Given the description of an element on the screen output the (x, y) to click on. 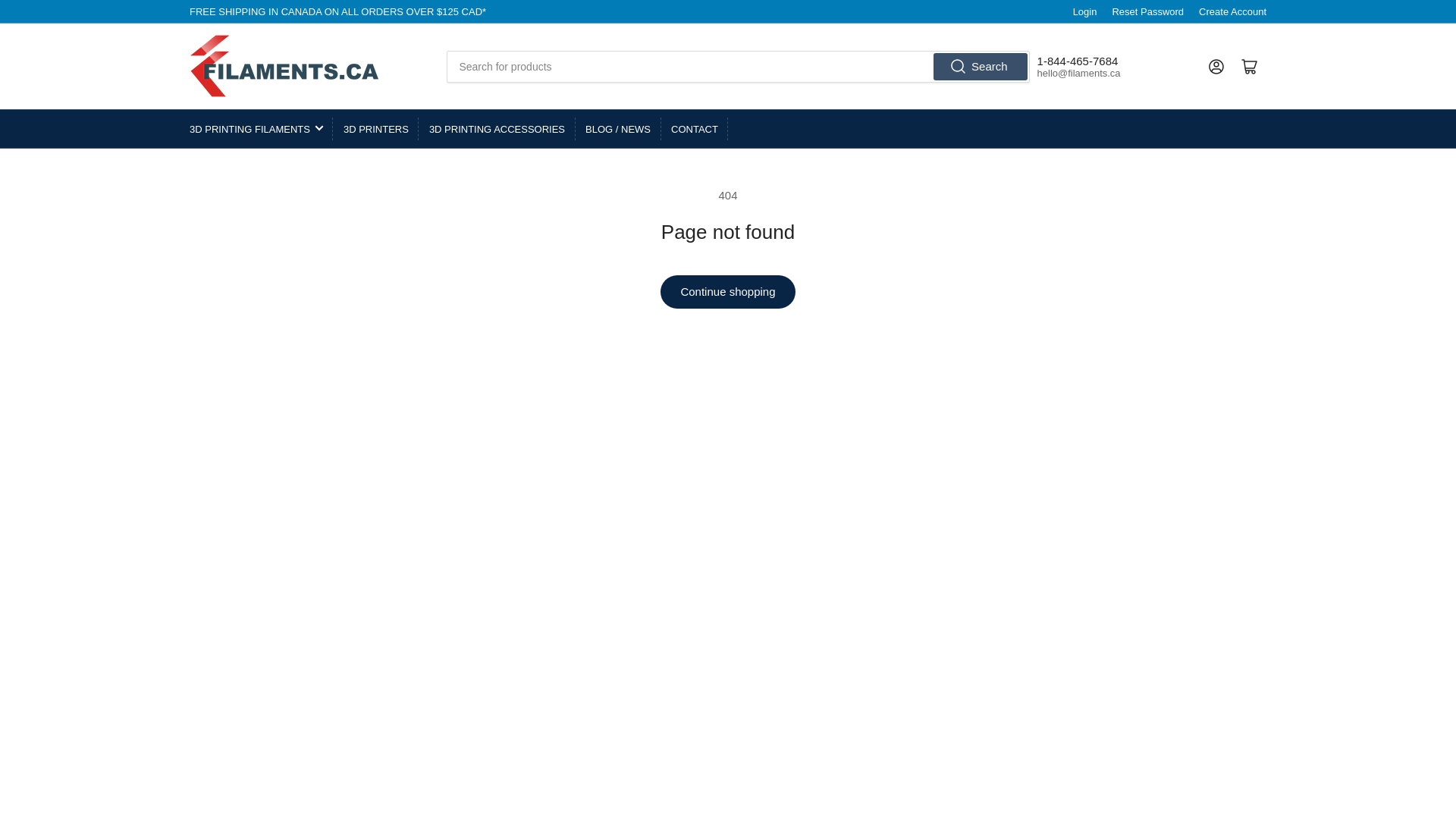
3D PRINTERS (376, 128)
3D PRINTING FILAMENTS (256, 128)
Open mini cart (1249, 66)
Log in (1216, 66)
Reset Password (1147, 11)
CONTACT (694, 128)
Continue shopping (727, 291)
Login (1085, 11)
3D PRINTING ACCESSORIES (496, 128)
Search (980, 65)
Create Account (1232, 11)
